Given the description of an element on the screen output the (x, y) to click on. 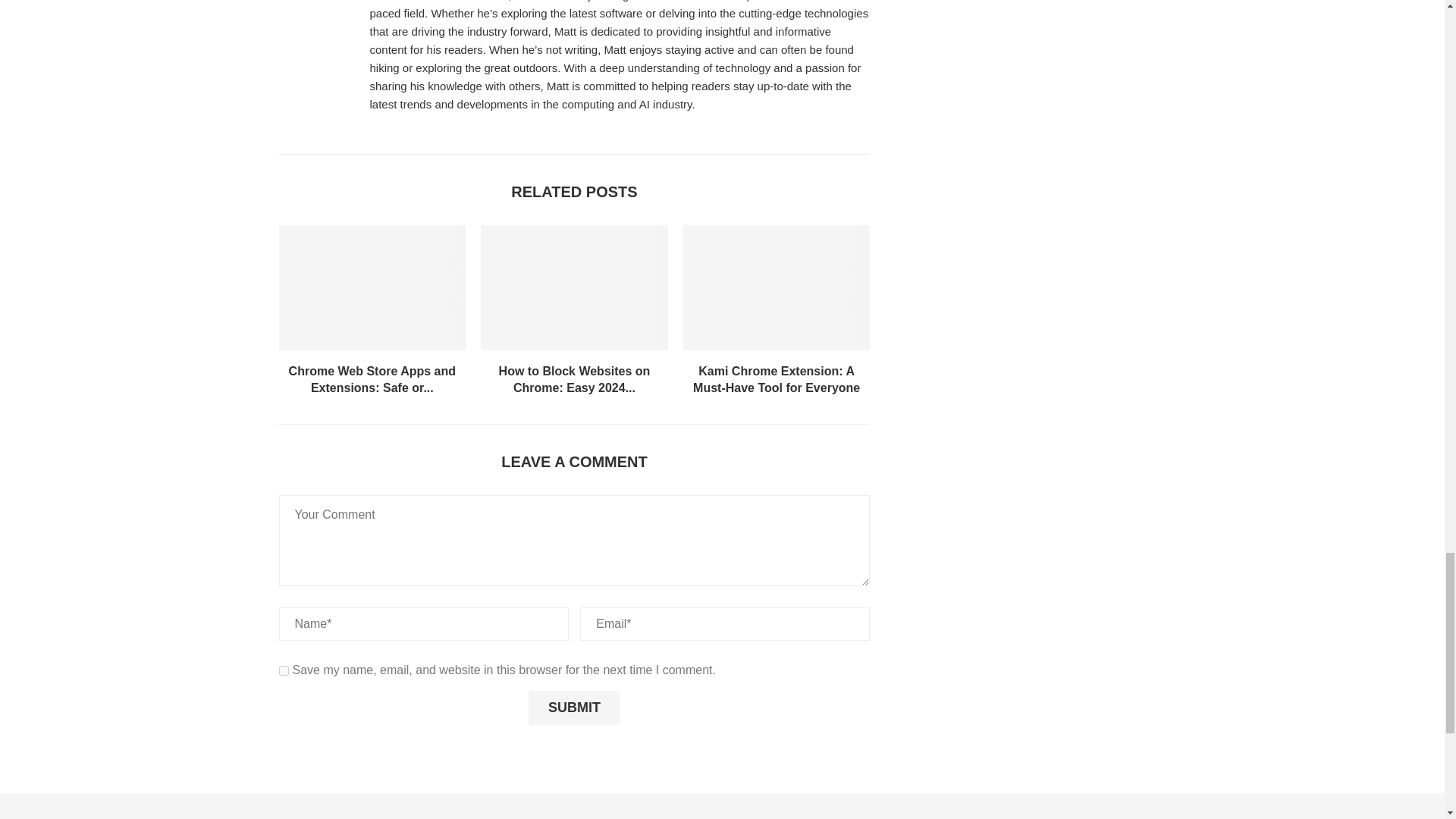
How to Block Websites on Chrome: Easy 2024 Guide (574, 287)
Submit (574, 708)
yes (283, 670)
Chrome Web Store Apps and Extensions: Safe or Not? (372, 287)
How to Block Websites on Chrome: Easy 2024... (574, 378)
Chrome Web Store Apps and Extensions: Safe or... (371, 378)
Submit (574, 708)
Kami Chrome Extension: A Must-Have Tool for Everyone (776, 287)
Kami Chrome Extension: A Must-Have Tool for Everyone (776, 378)
